Given the description of an element on the screen output the (x, y) to click on. 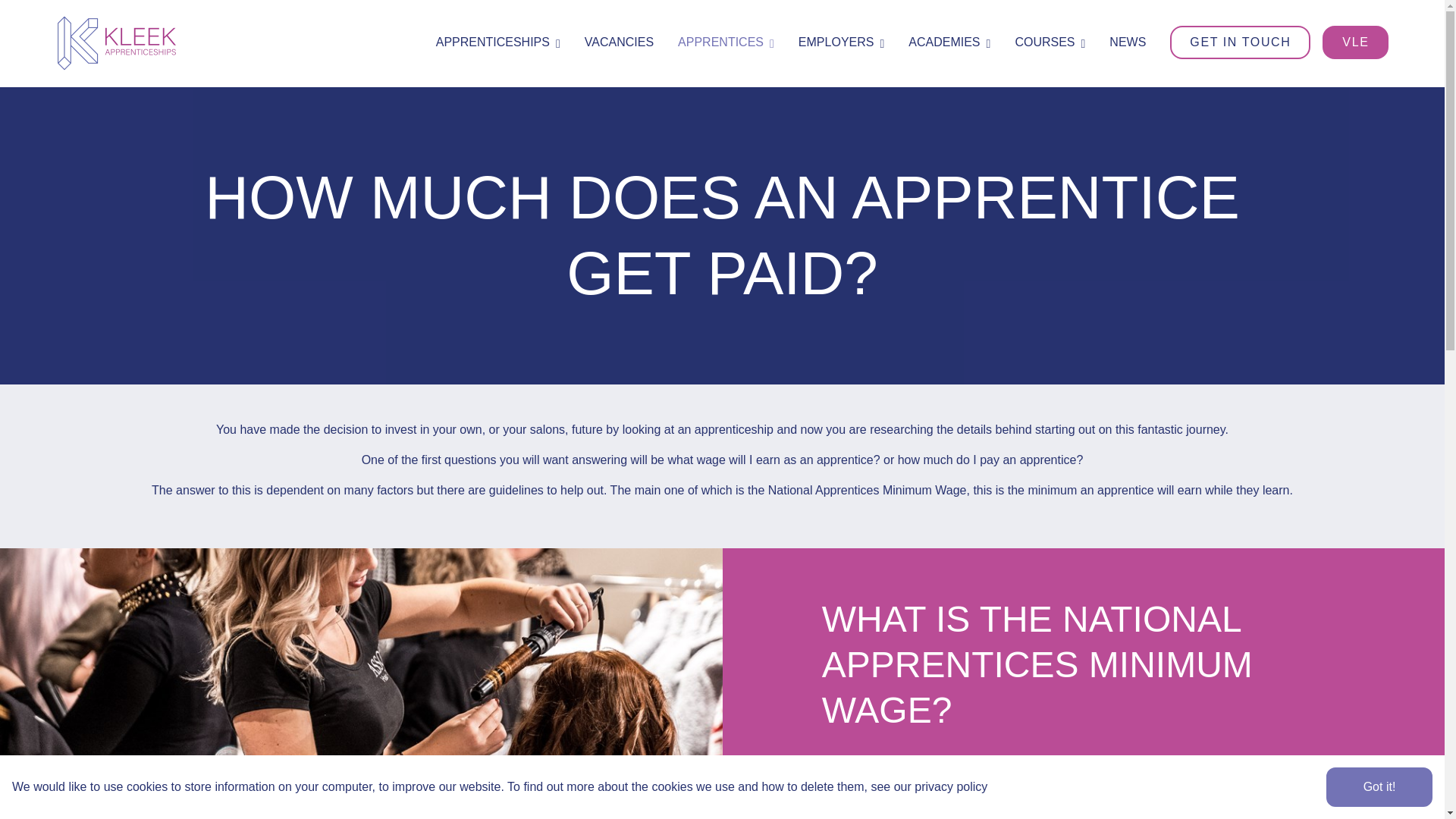
National Apprentices Minimum Wage (867, 490)
